Given the description of an element on the screen output the (x, y) to click on. 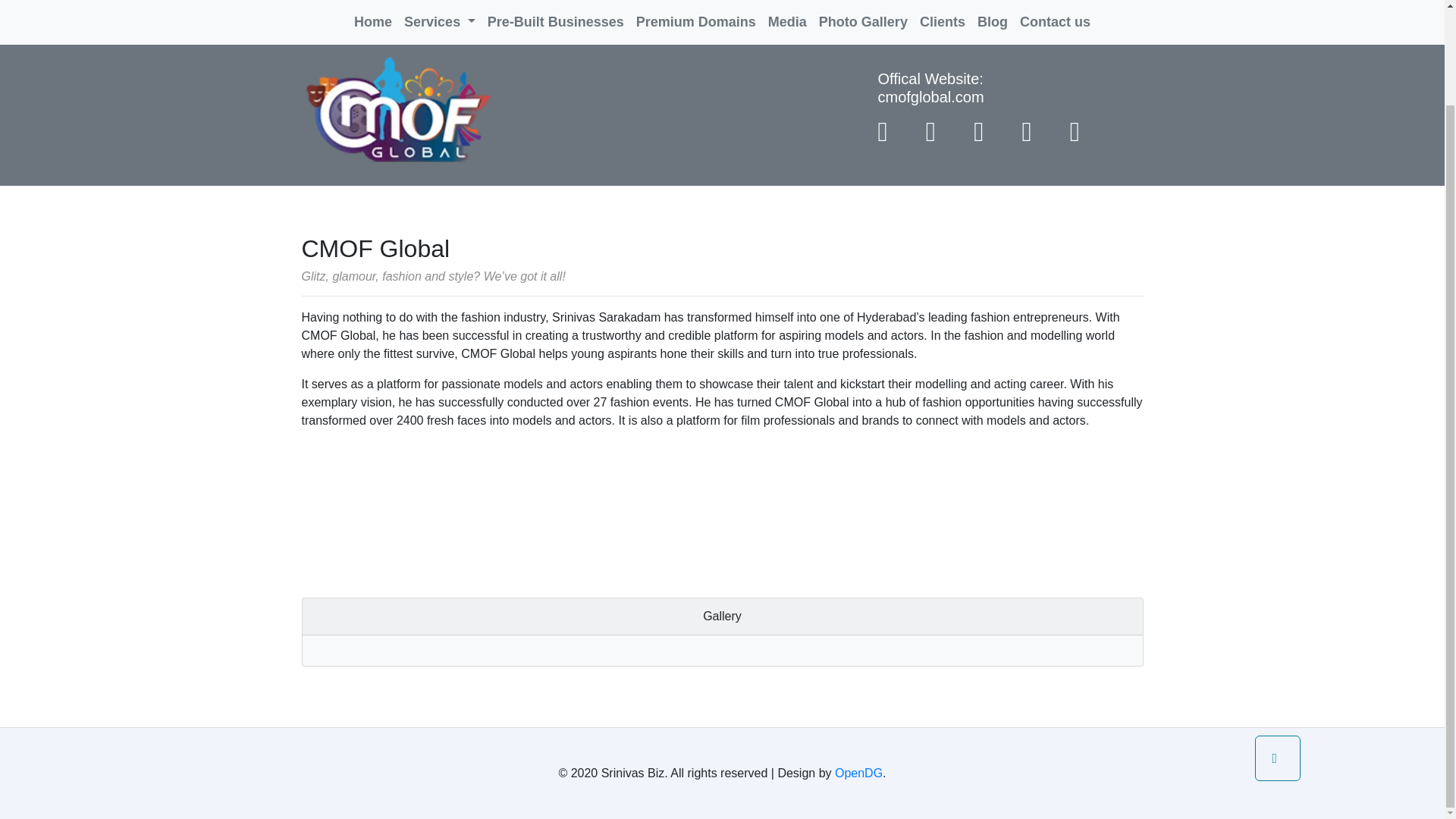
Clients (942, 13)
Media (786, 13)
cmofglobal.com (930, 96)
Blog (992, 13)
Services (439, 13)
Premium Domains (695, 13)
Home (372, 13)
Pre-Built Businesses (555, 13)
Photo Gallery (863, 13)
OpenDG (858, 772)
Contact us (1054, 13)
